Given the description of an element on the screen output the (x, y) to click on. 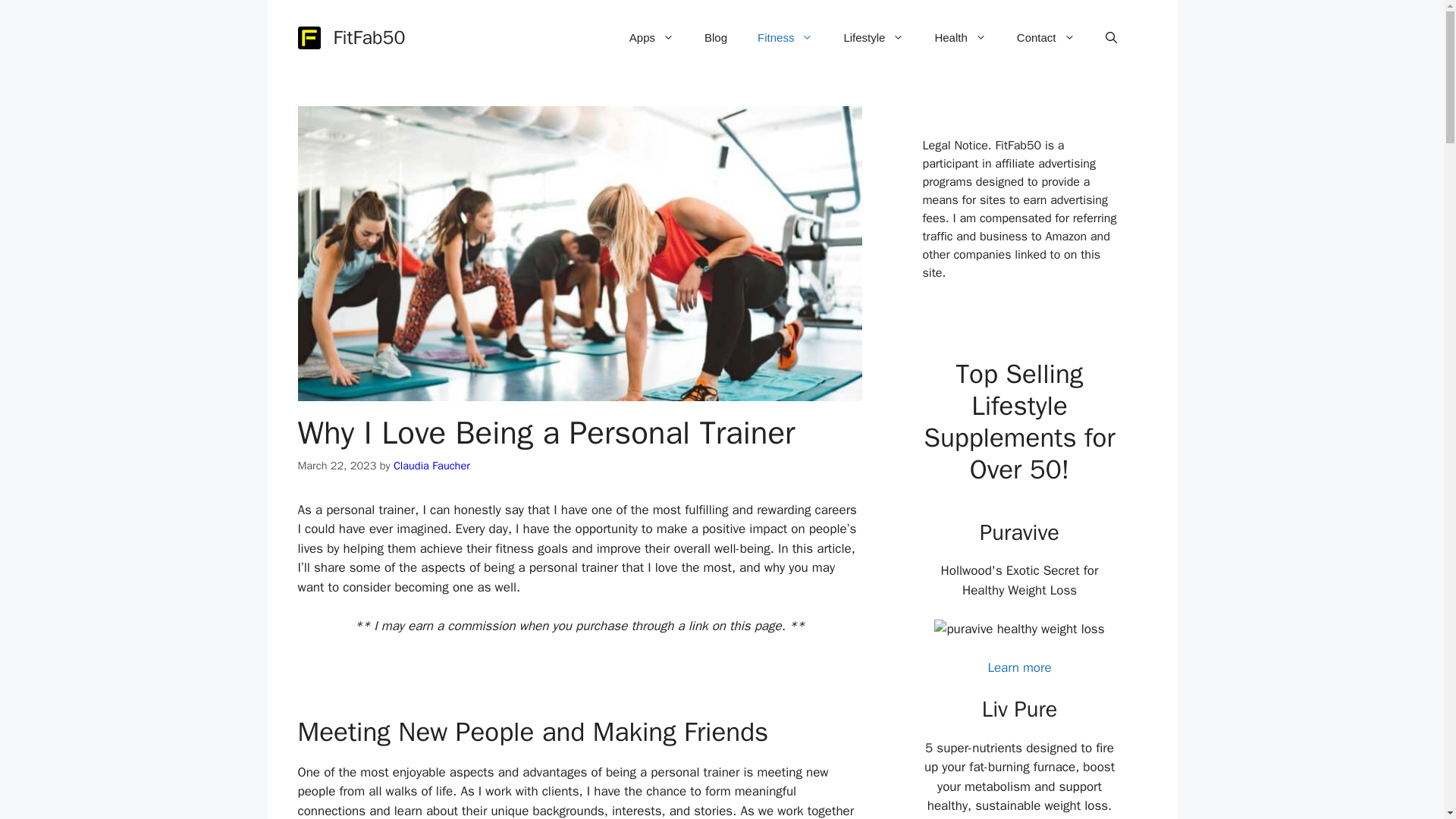
FitFab50 (369, 37)
Fitness (785, 37)
Health (959, 37)
Contact (1045, 37)
Apps (651, 37)
Lifestyle (873, 37)
Blog (715, 37)
Claudia Faucher (431, 465)
View all posts by Claudia Faucher (431, 465)
